Given the description of an element on the screen output the (x, y) to click on. 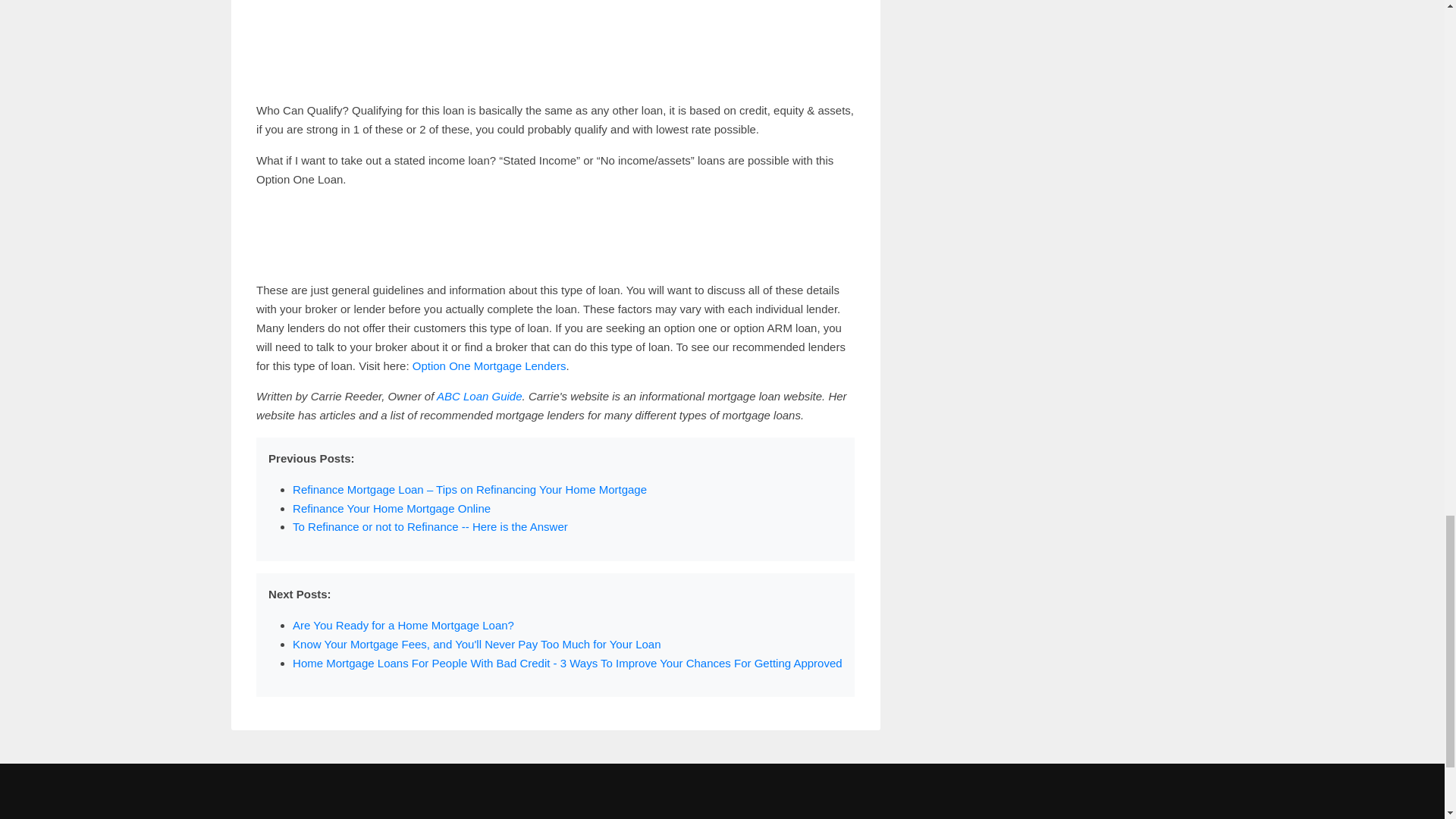
Are You Ready for a Home Mortgage Loan? (402, 625)
Advertisement (555, 234)
To Refinance or not to Refinance -- Here is the Answer (429, 526)
Refinance Your Home Mortgage Online (391, 508)
ABC Loan Guide (479, 395)
Advertisement (555, 44)
Option One Mortgage Lenders (489, 365)
